Given the description of an element on the screen output the (x, y) to click on. 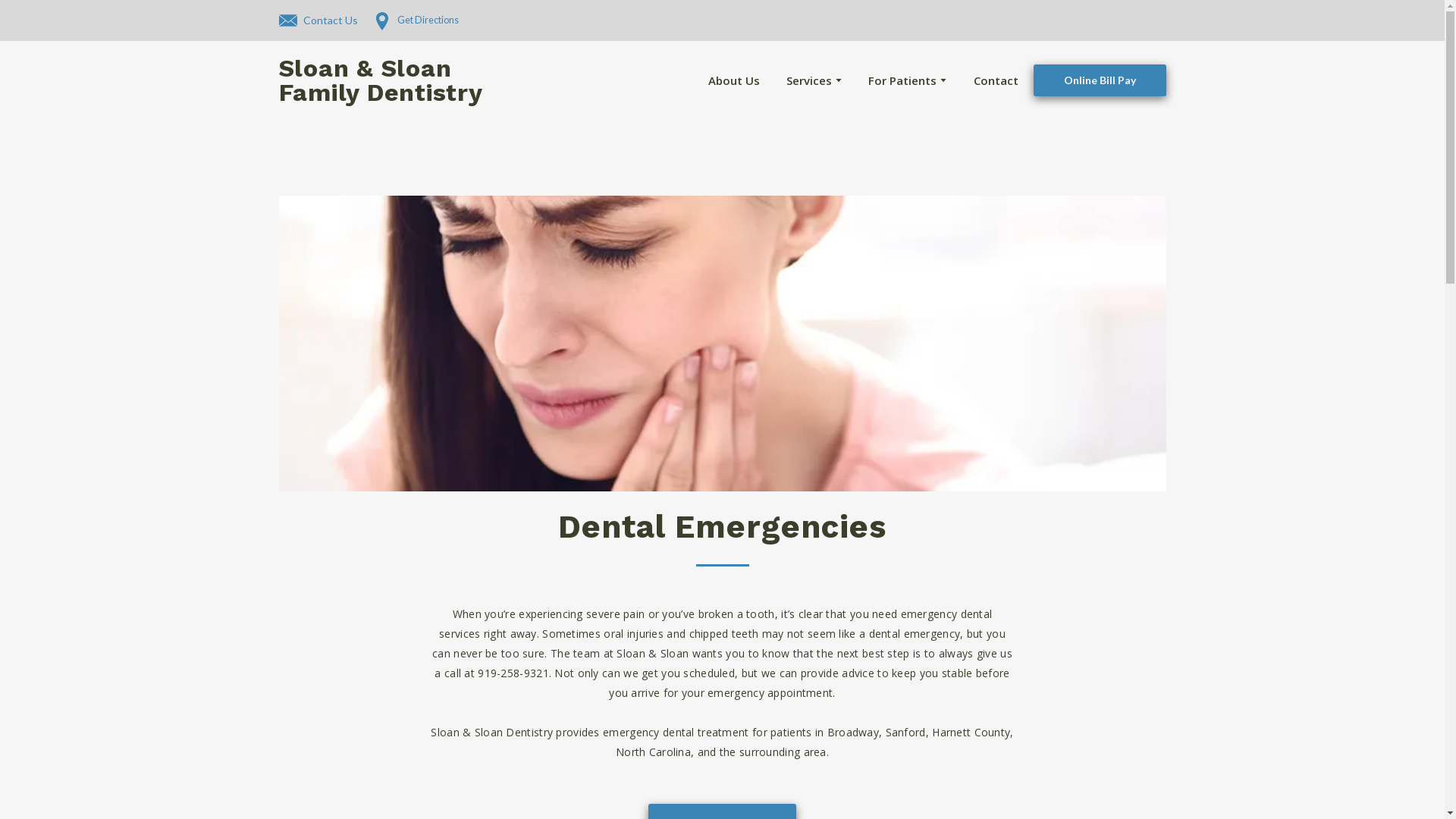
Get Directions (415, 20)
About Us (733, 79)
Online Bill Pay (1099, 80)
Contact (995, 79)
Contact Us (318, 20)
